Given the description of an element on the screen output the (x, y) to click on. 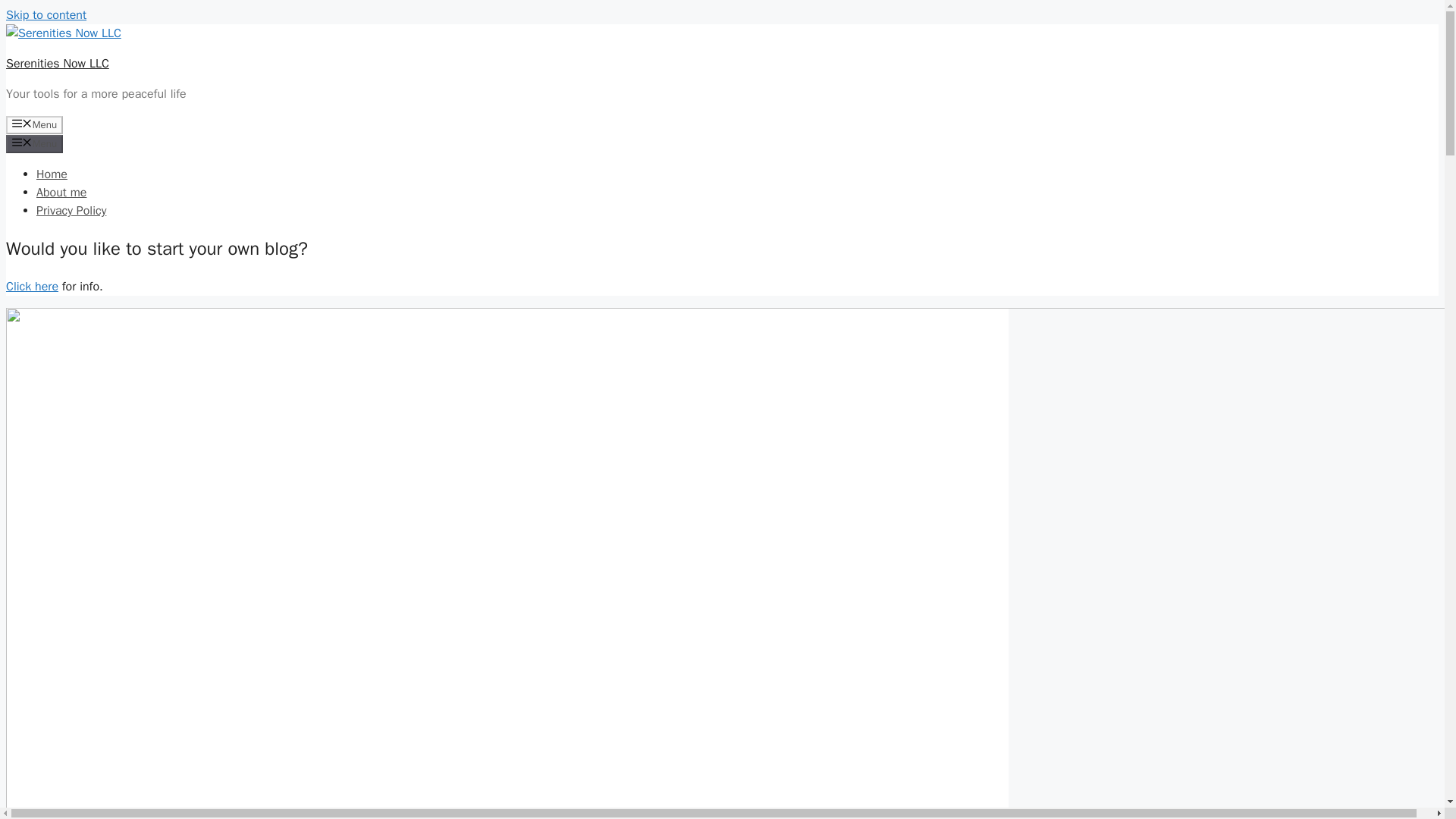
Skip to content (45, 14)
Click here (31, 286)
Skip to content (45, 14)
Serenities Now LLC (57, 63)
About me (60, 192)
Menu (33, 144)
Privacy Policy (71, 210)
Menu (33, 125)
Home (51, 174)
